Given the description of an element on the screen output the (x, y) to click on. 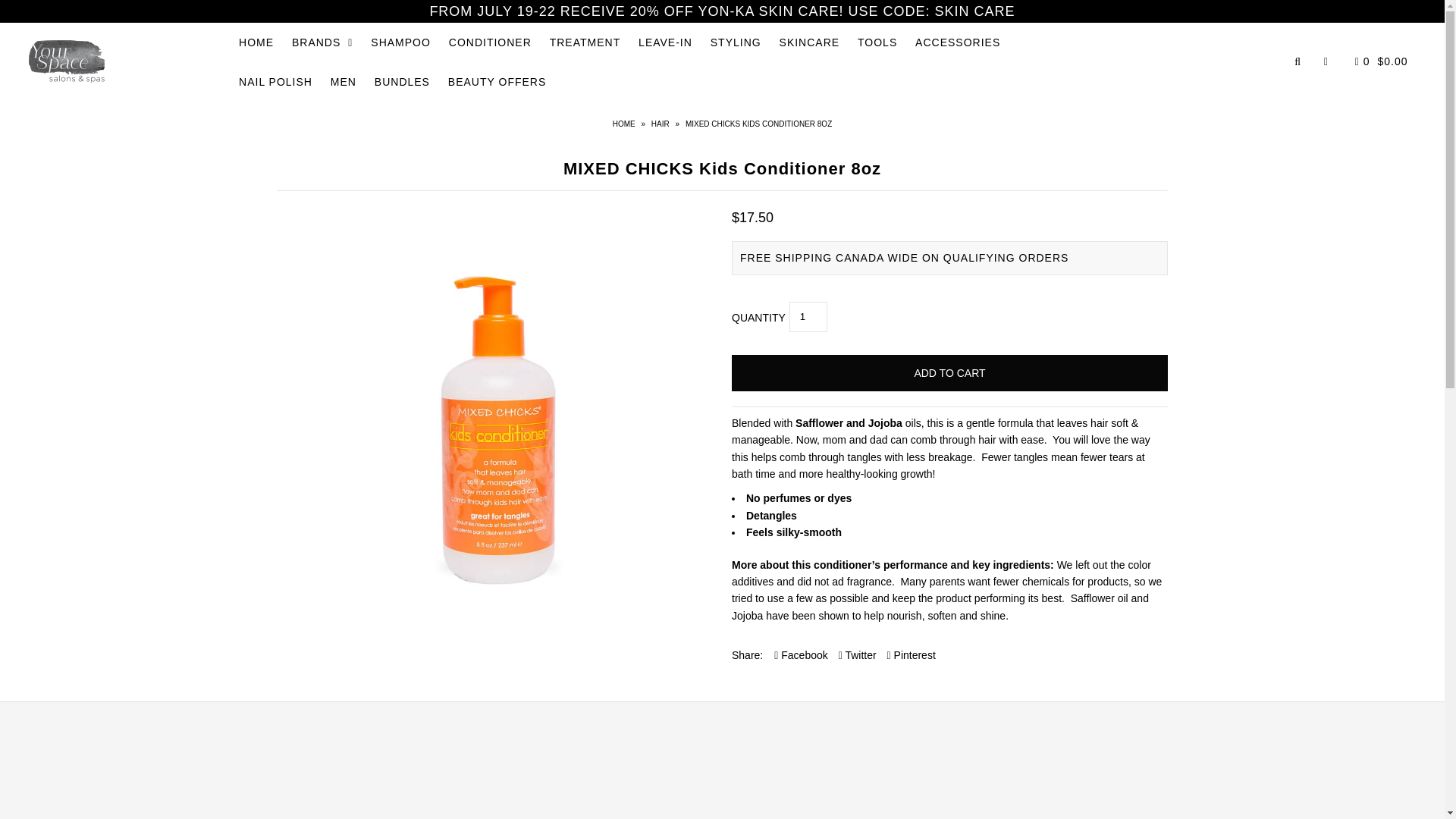
Share on Facebook (801, 655)
Home (625, 123)
Hair (661, 123)
Add to Cart (949, 372)
BRANDS (321, 42)
HOME (256, 42)
Share on Pinterest (911, 655)
1 (808, 317)
Share on Twitter (857, 655)
